Given the description of an element on the screen output the (x, y) to click on. 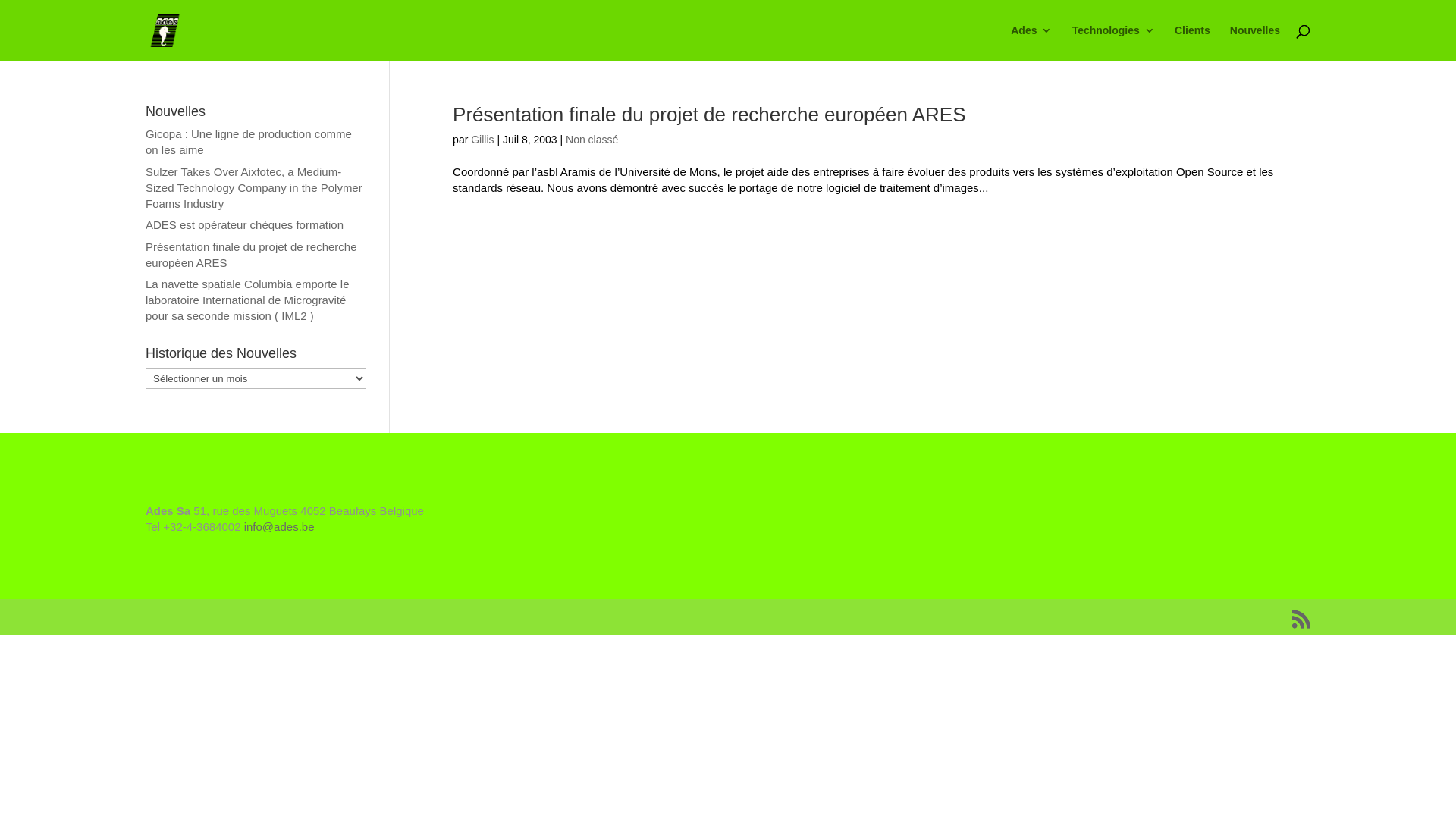
Gillis Element type: text (481, 139)
Gicopa : Une ligne de production comme on les aime Element type: text (248, 141)
info@ades.be Element type: text (279, 526)
Ades Element type: text (1030, 42)
Technologies Element type: text (1113, 42)
Nouvelles Element type: text (1255, 42)
Clients Element type: text (1192, 42)
